Given the description of an element on the screen output the (x, y) to click on. 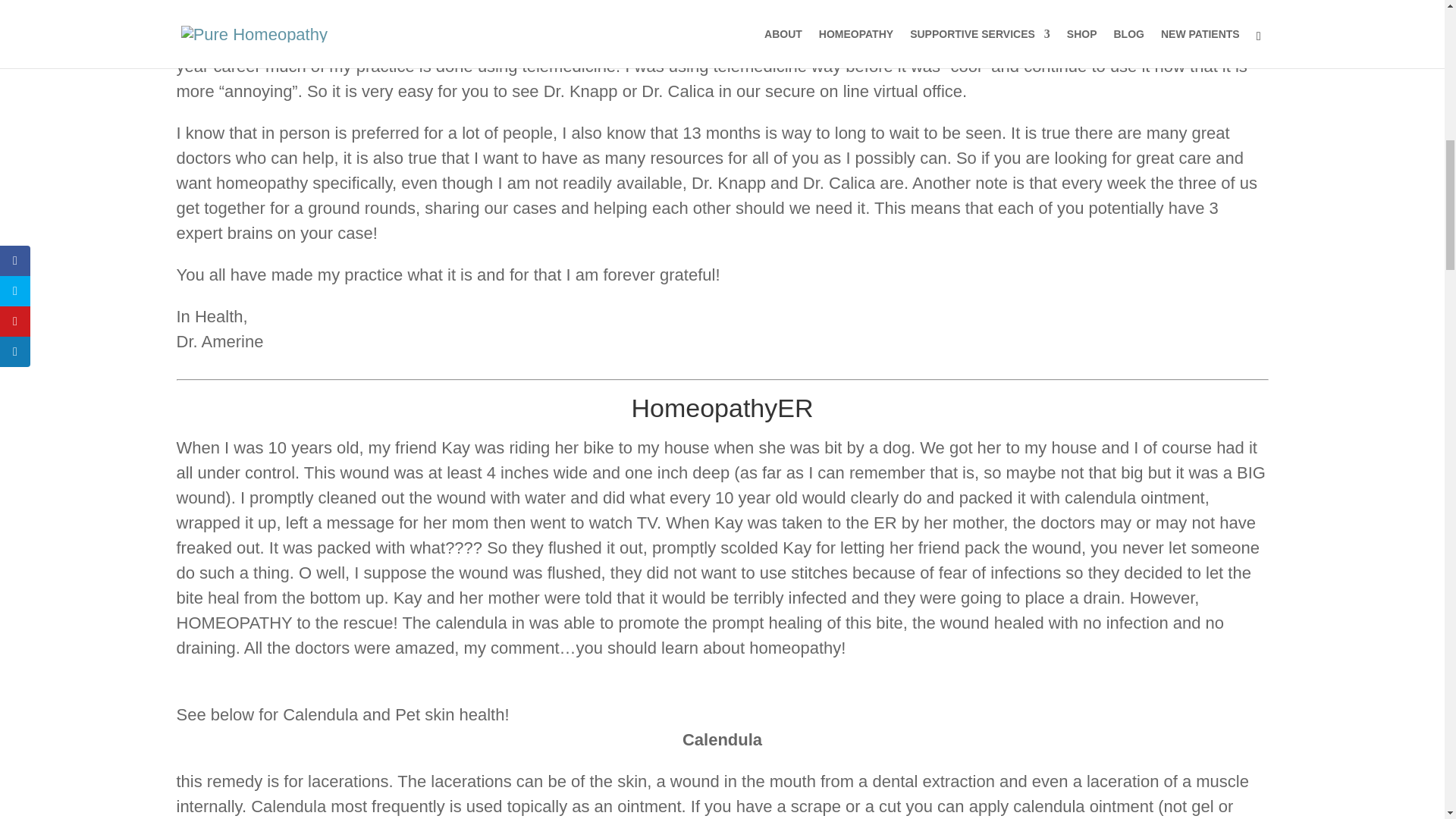
Dr. Mike Knapp and Dr. Shonna Calica (354, 15)
